Given the description of an element on the screen output the (x, y) to click on. 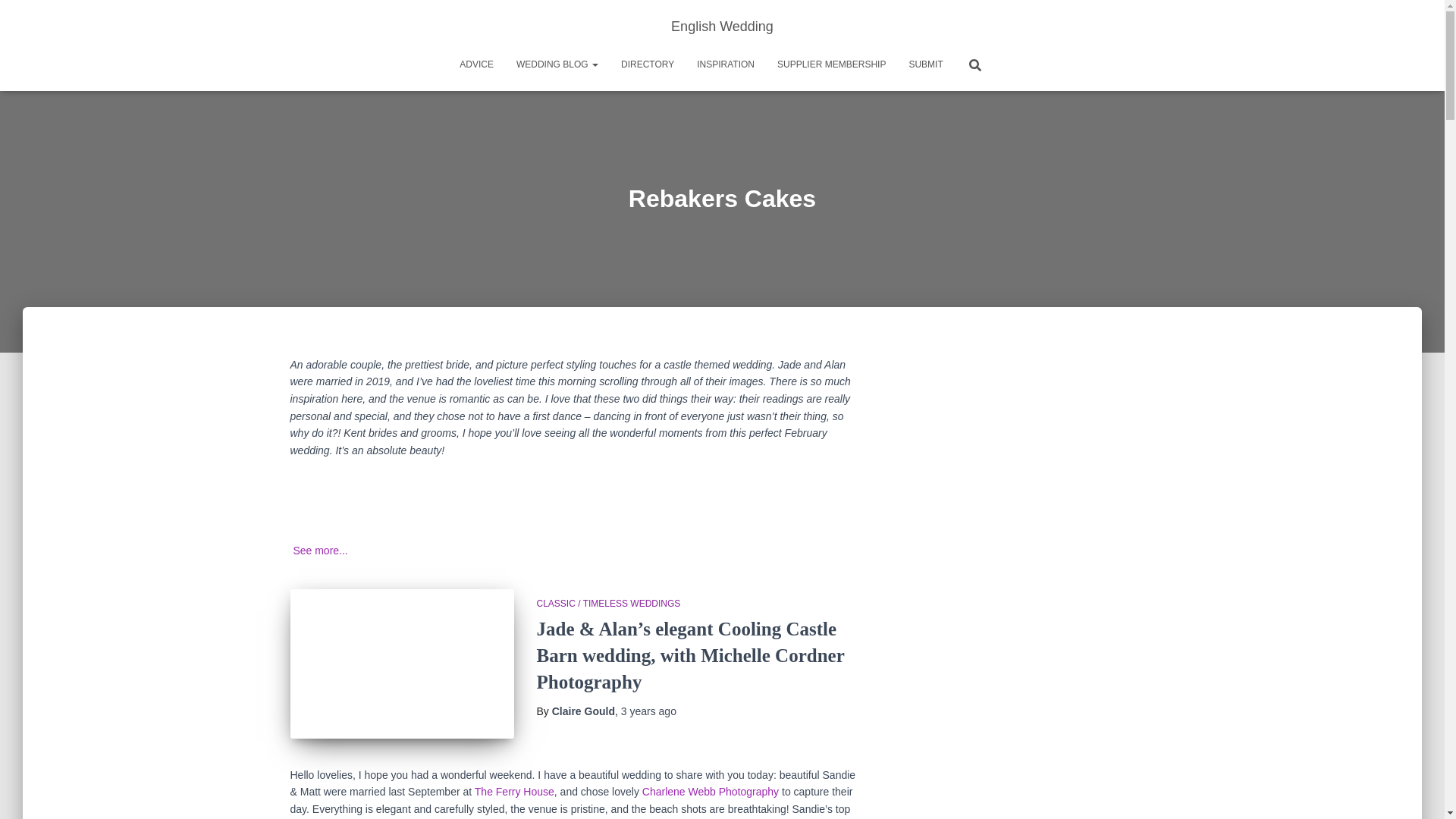
3 years ago (649, 711)
DIRECTORY (647, 64)
Claire Gould (582, 711)
Advice (476, 64)
INSPIRATION (725, 64)
English Wedding (721, 26)
Wedding Blog (557, 64)
English Wedding (721, 26)
Directory (647, 64)
The Ferry House (514, 791)
